Given the description of an element on the screen output the (x, y) to click on. 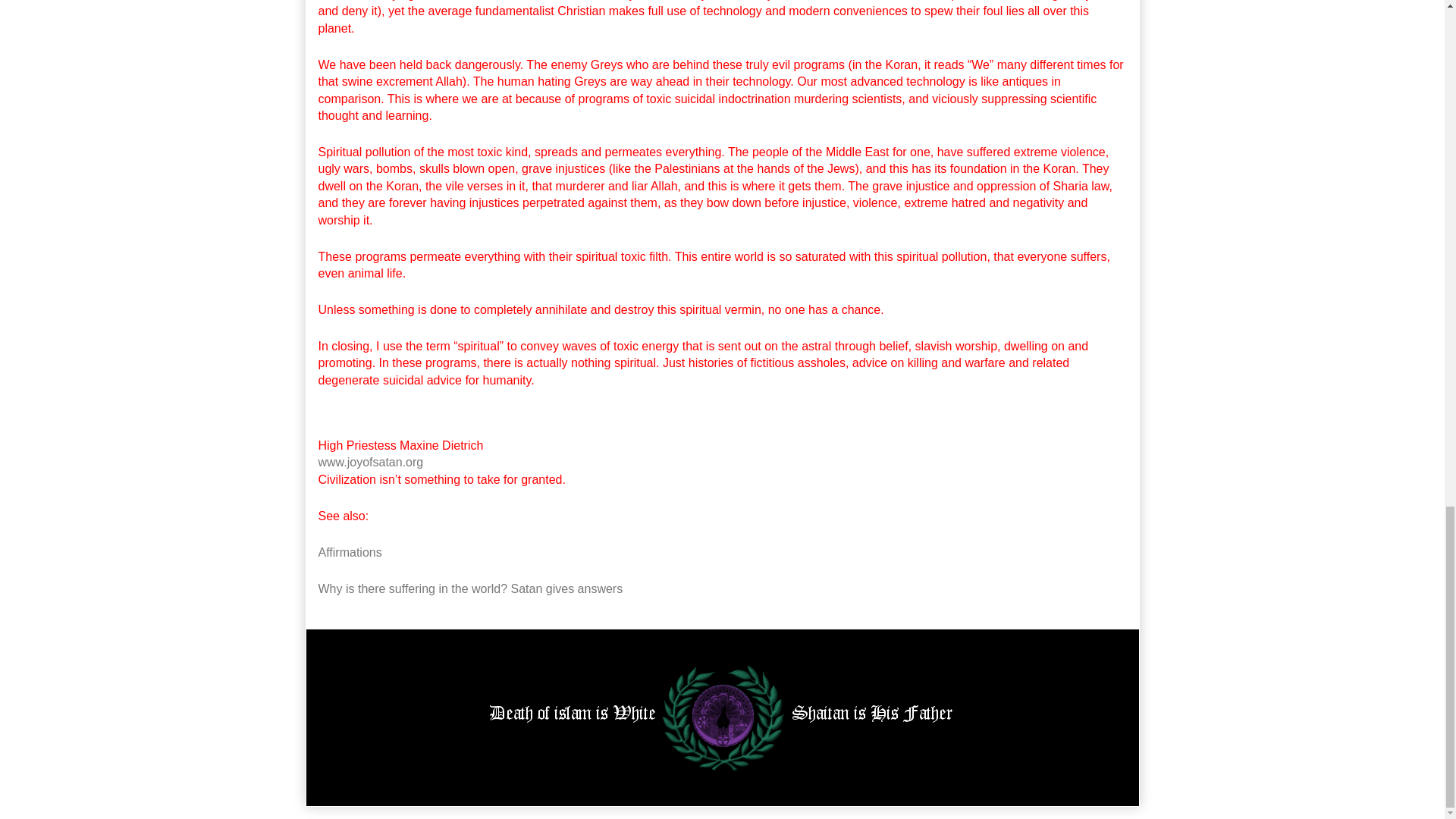
www.joyofsatan.org (370, 461)
Why is there suffering in the world? Satan gives answers (470, 588)
Affirmations (349, 552)
